Given the description of an element on the screen output the (x, y) to click on. 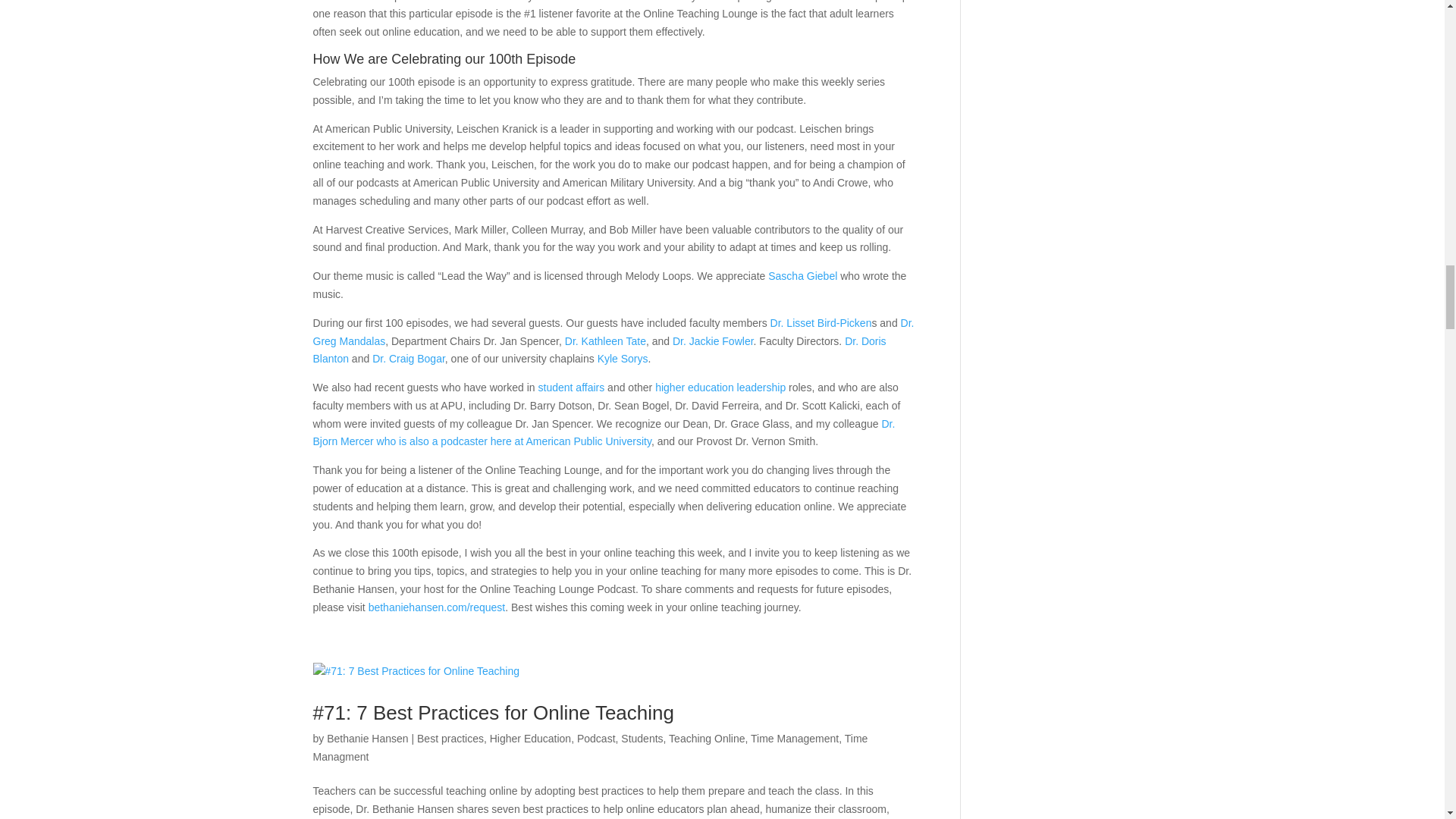
Posts by Bethanie Hansen (366, 738)
